Given the description of an element on the screen output the (x, y) to click on. 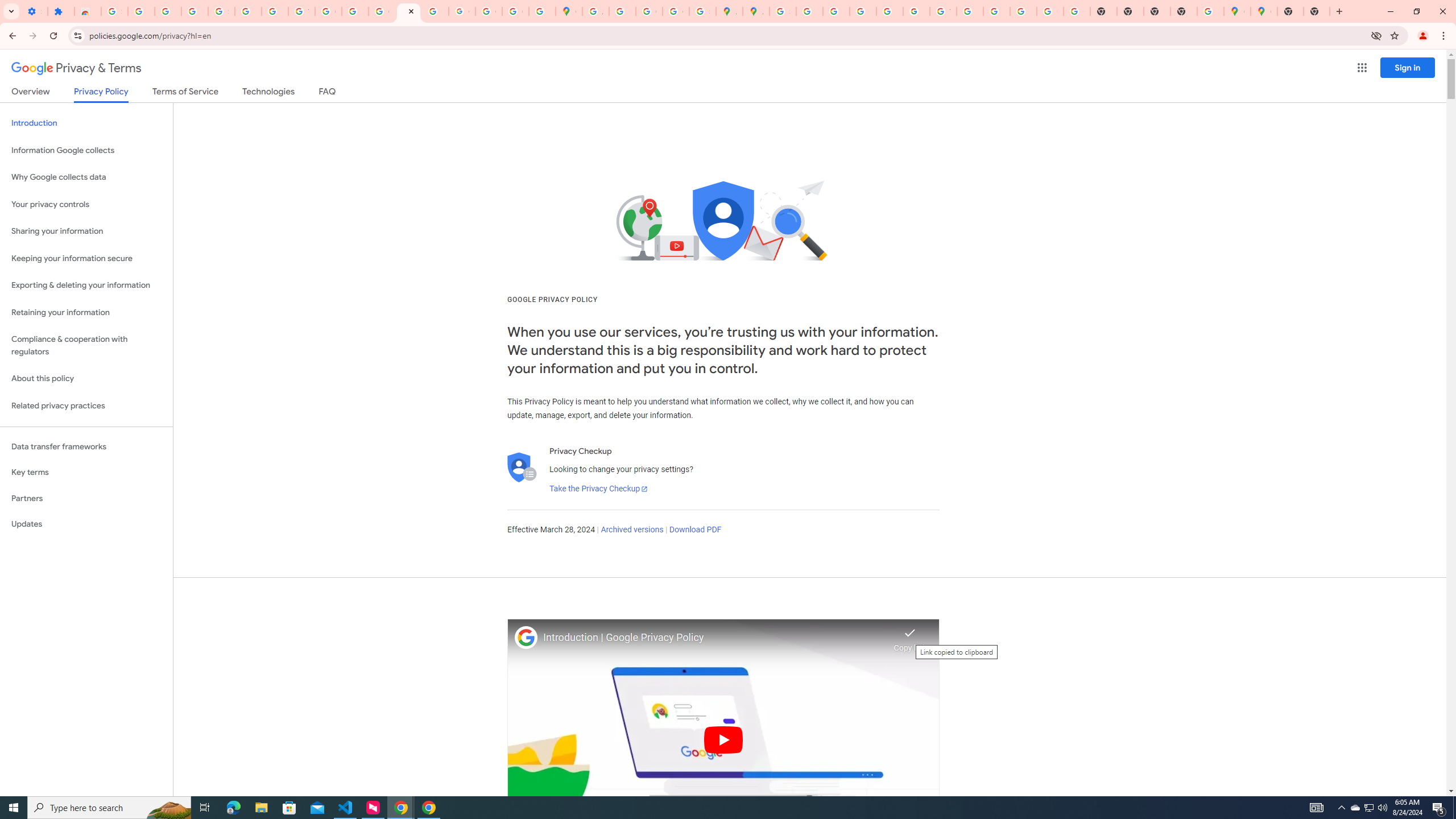
Reviews: Helix Fruit Jump Arcade Game (87, 11)
Sign in - Google Accounts (114, 11)
